Given the description of an element on the screen output the (x, y) to click on. 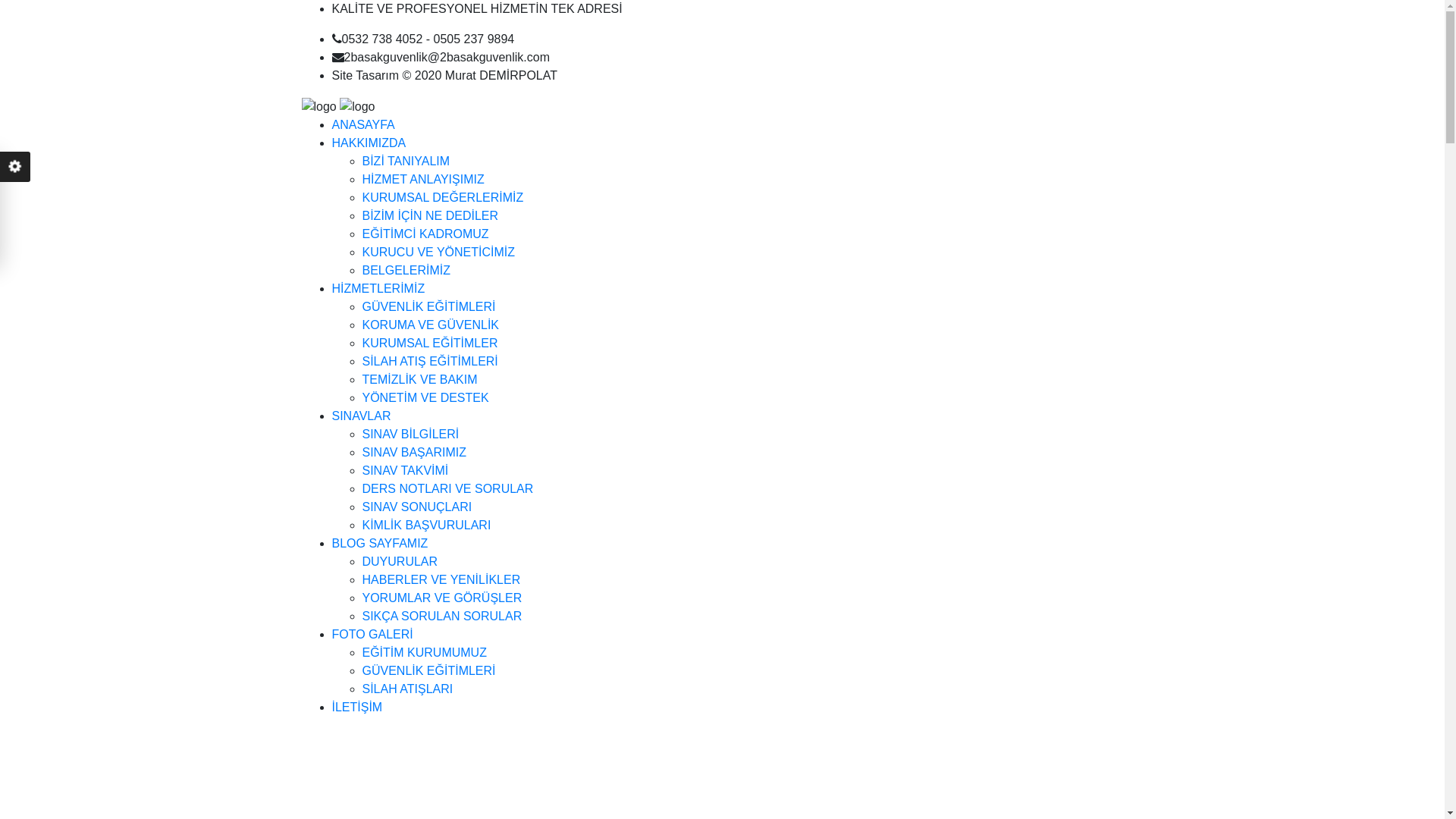
ANASAYFA Element type: text (363, 124)
HAKKIMIZDA Element type: text (369, 142)
DERS NOTLARI VE SORULAR Element type: text (447, 488)
SINAVLAR Element type: text (361, 415)
BLOG SAYFAMIZ Element type: text (380, 542)
DUYURULAR Element type: text (400, 561)
